Given the description of an element on the screen output the (x, y) to click on. 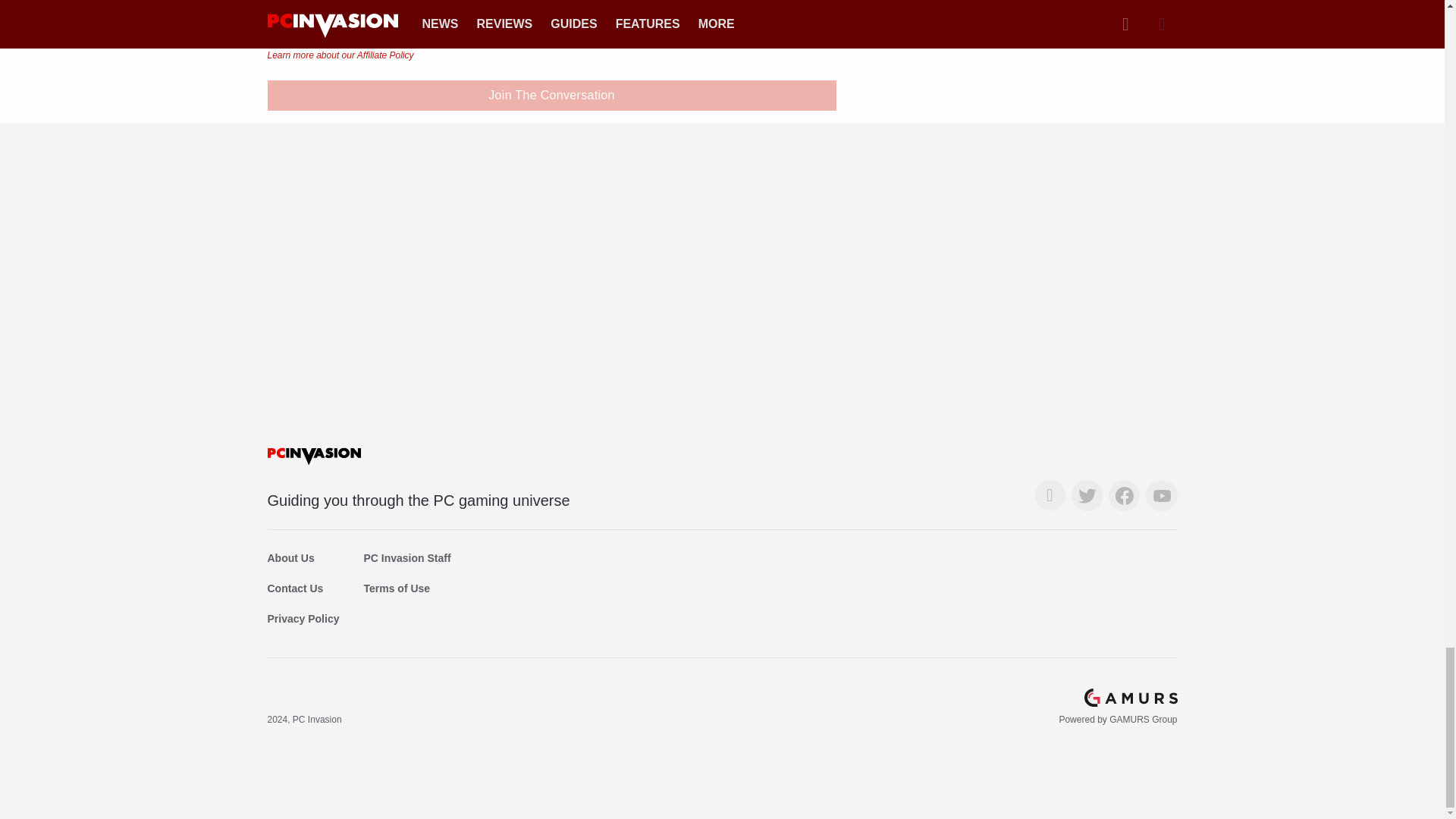
Join The Conversation (550, 95)
